Given the description of an element on the screen output the (x, y) to click on. 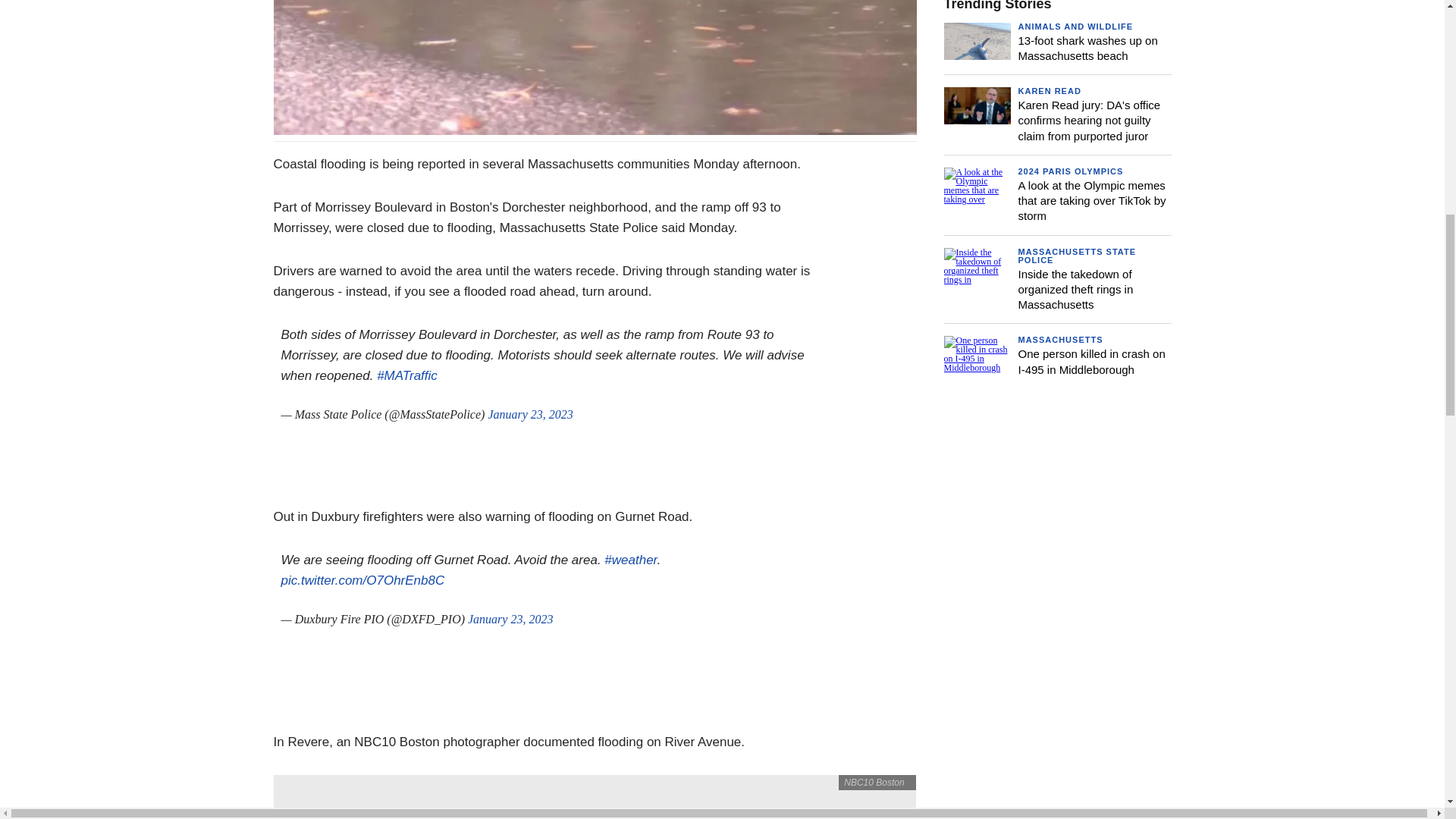
January 23, 2023 (510, 618)
January 23, 2023 (529, 413)
